Given the description of an element on the screen output the (x, y) to click on. 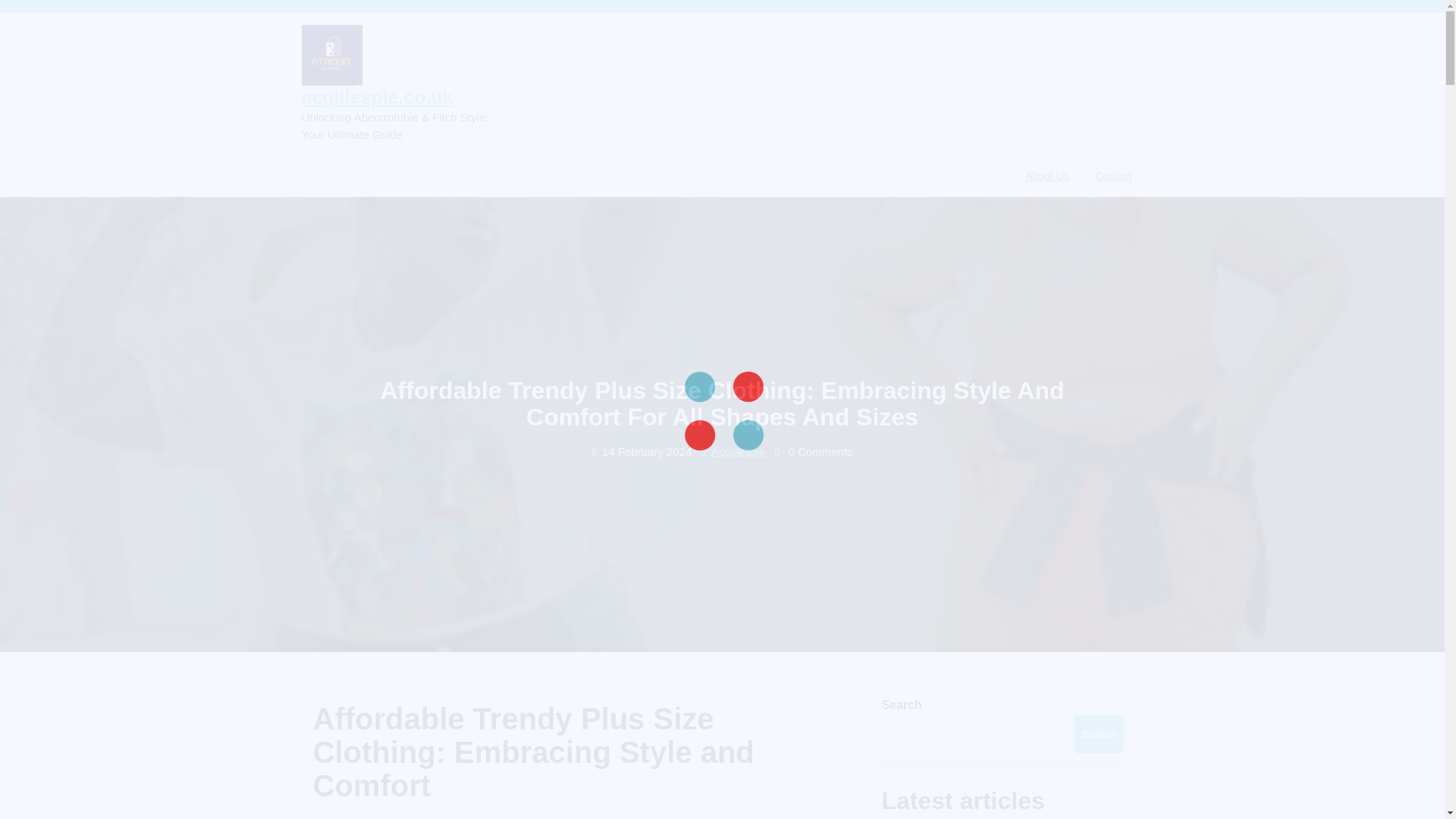
About Us (1046, 176)
acgillespie.co.uk (376, 96)
Acgillespie (738, 450)
Search (1099, 733)
Contact (1112, 176)
